Given the description of an element on the screen output the (x, y) to click on. 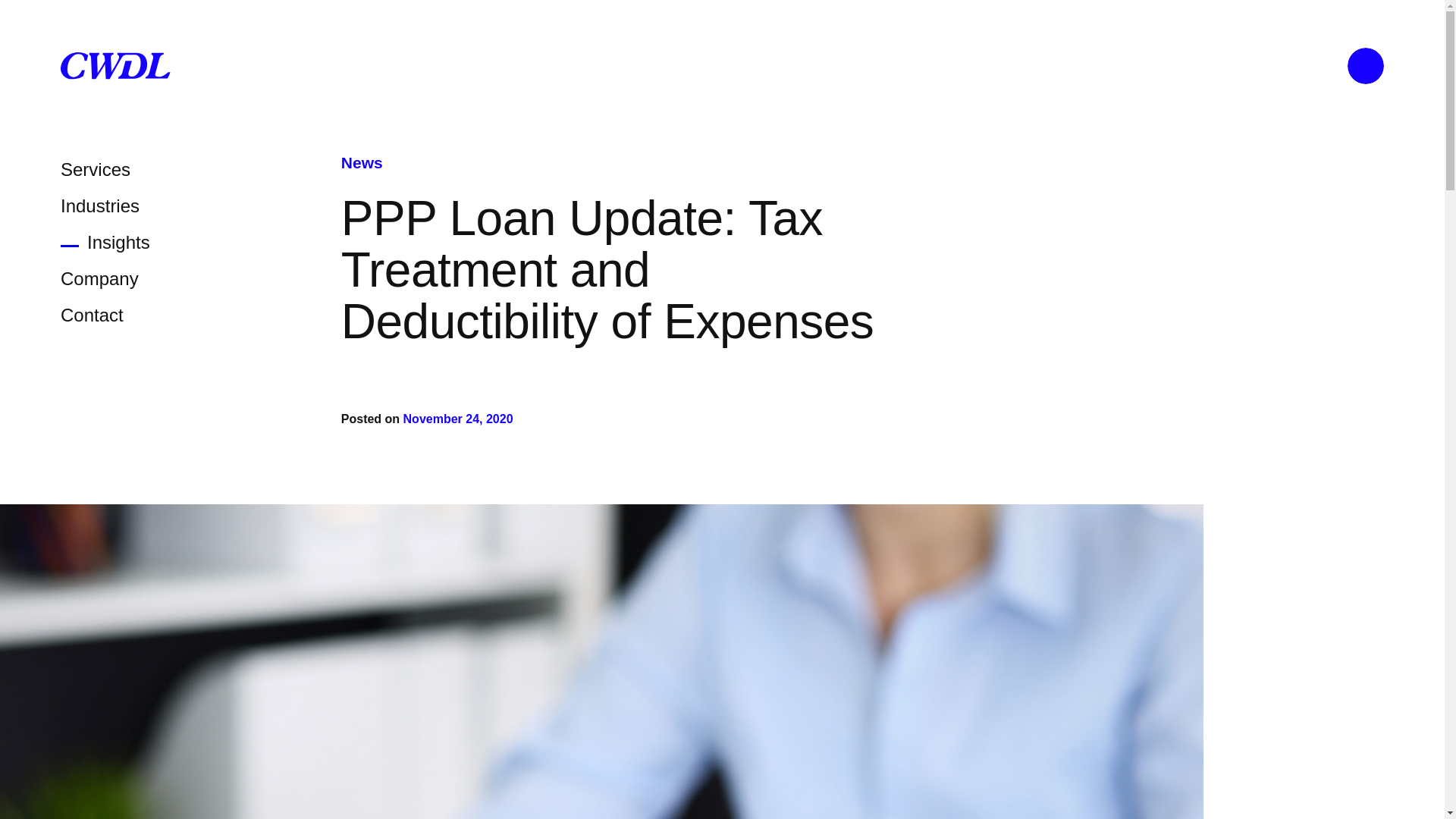
Insights (105, 241)
Company (99, 278)
Services (96, 168)
Contact (92, 314)
Industries (100, 205)
